Given the description of an element on the screen output the (x, y) to click on. 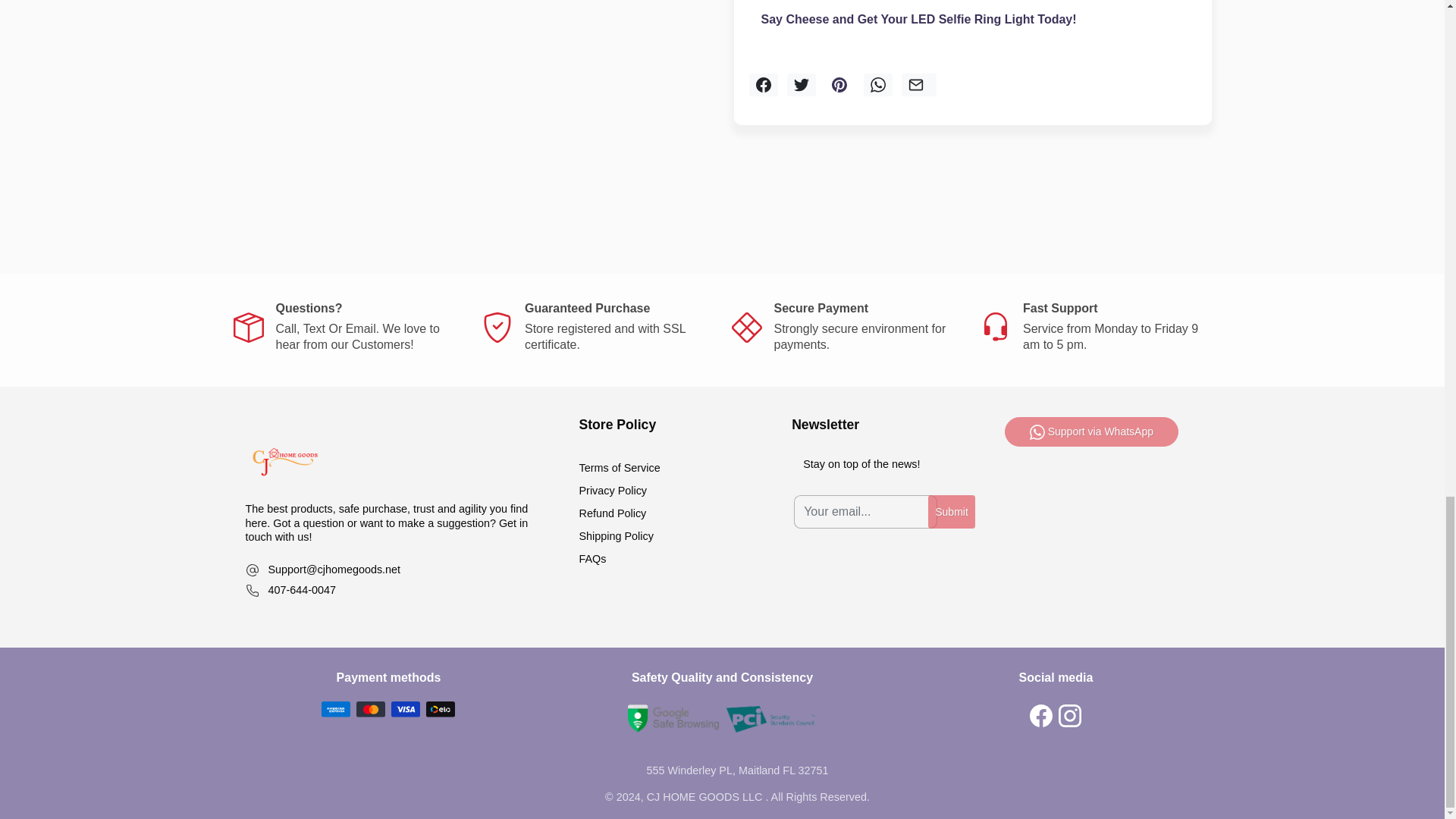
FAQs (308, 522)
